Given the description of an element on the screen output the (x, y) to click on. 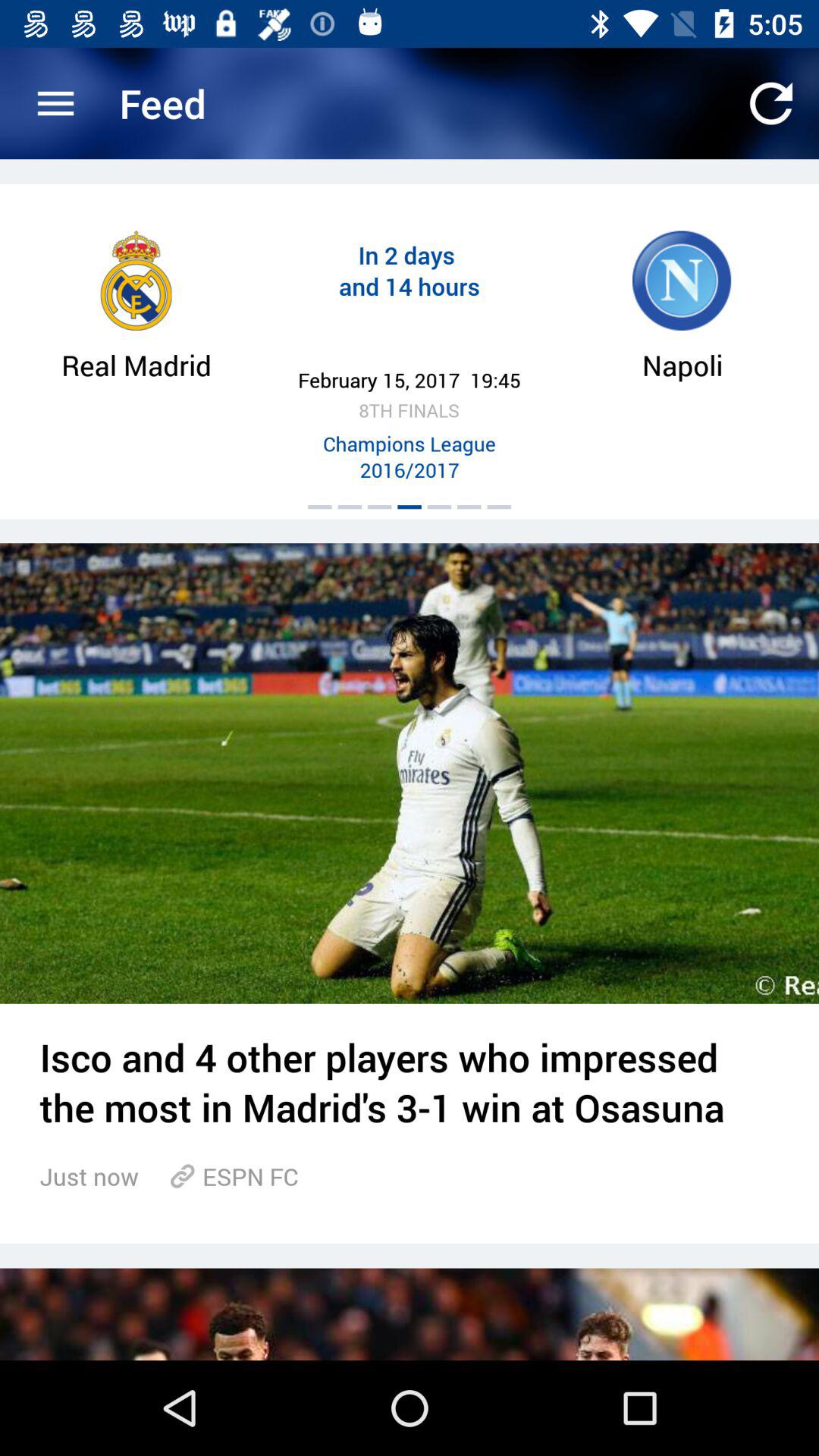
launch app next to the feed icon (771, 103)
